Given the description of an element on the screen output the (x, y) to click on. 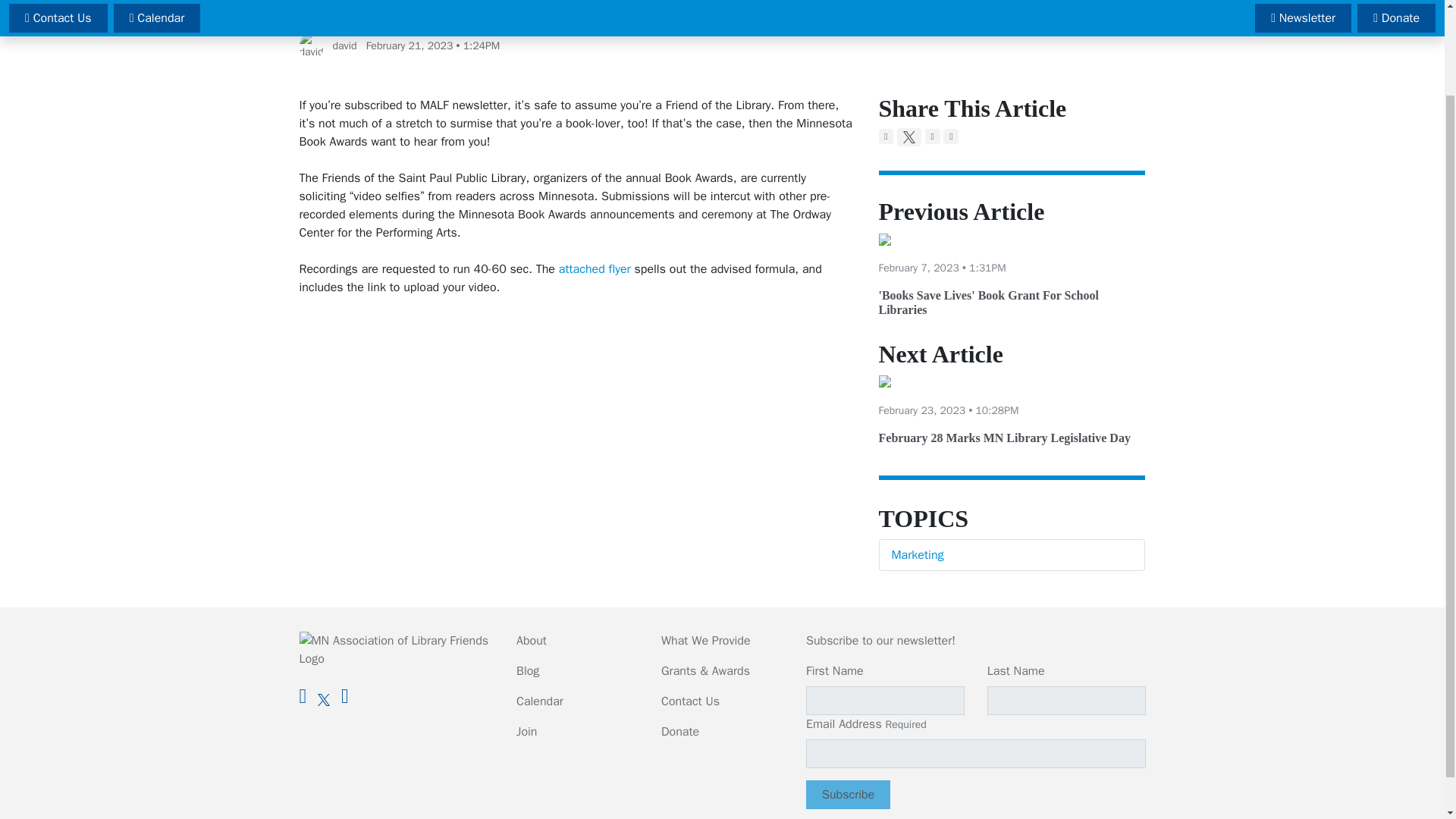
Subscribe (847, 794)
'Books Save Lives' Book Grant For School Libraries (987, 302)
attached flyer (594, 268)
